Given the description of an element on the screen output the (x, y) to click on. 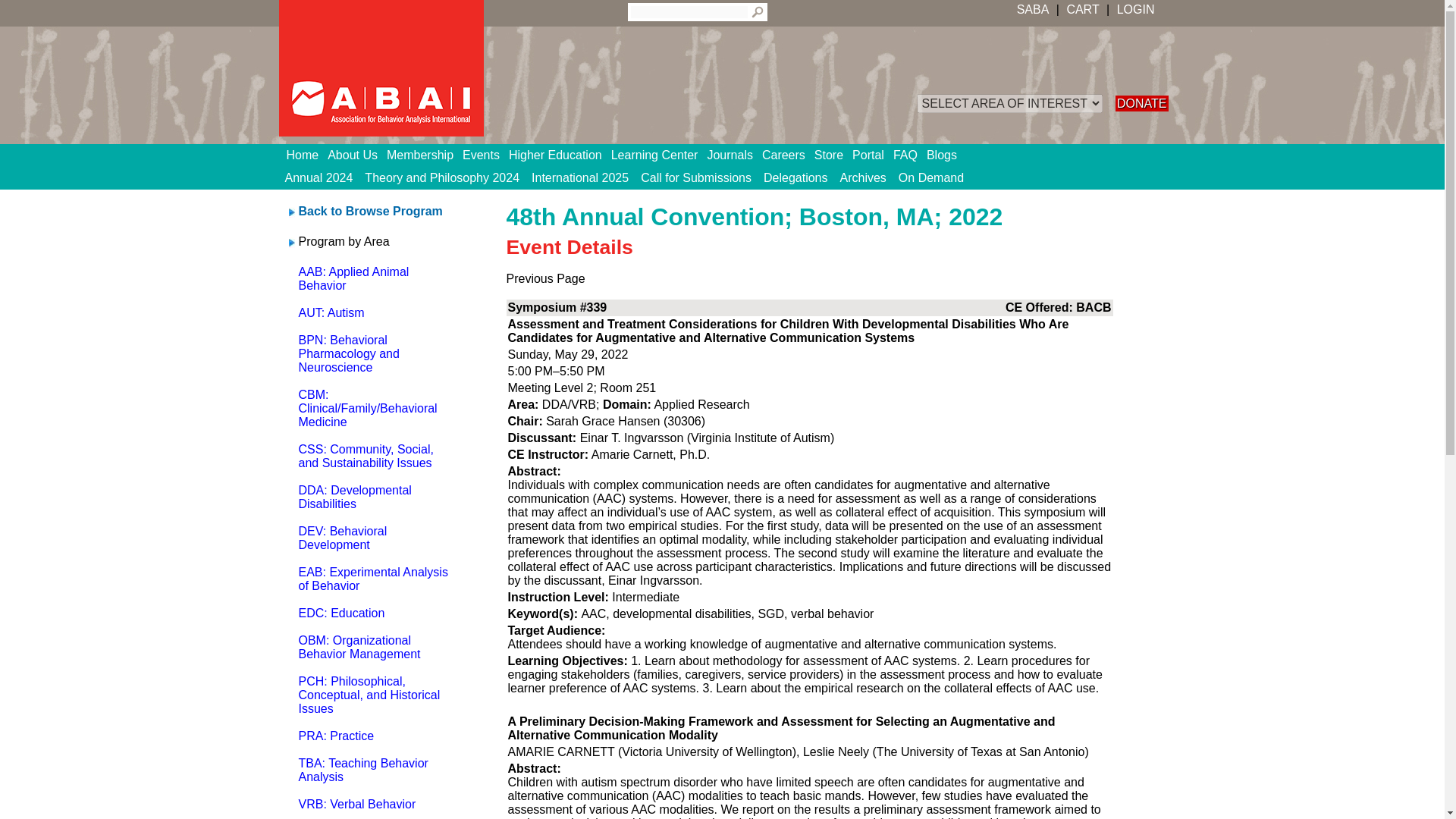
Portal (872, 155)
Call for Submissions (695, 178)
Careers (787, 155)
Blogs (946, 155)
LOGIN (1133, 9)
About Us (357, 155)
Back to search (370, 210)
Higher Education (559, 155)
Delegations (795, 178)
Store (832, 155)
Theory and Philosophy 2024 (441, 178)
Journals (733, 155)
Archives (863, 178)
Membership (425, 155)
CART (1082, 9)
